Given the description of an element on the screen output the (x, y) to click on. 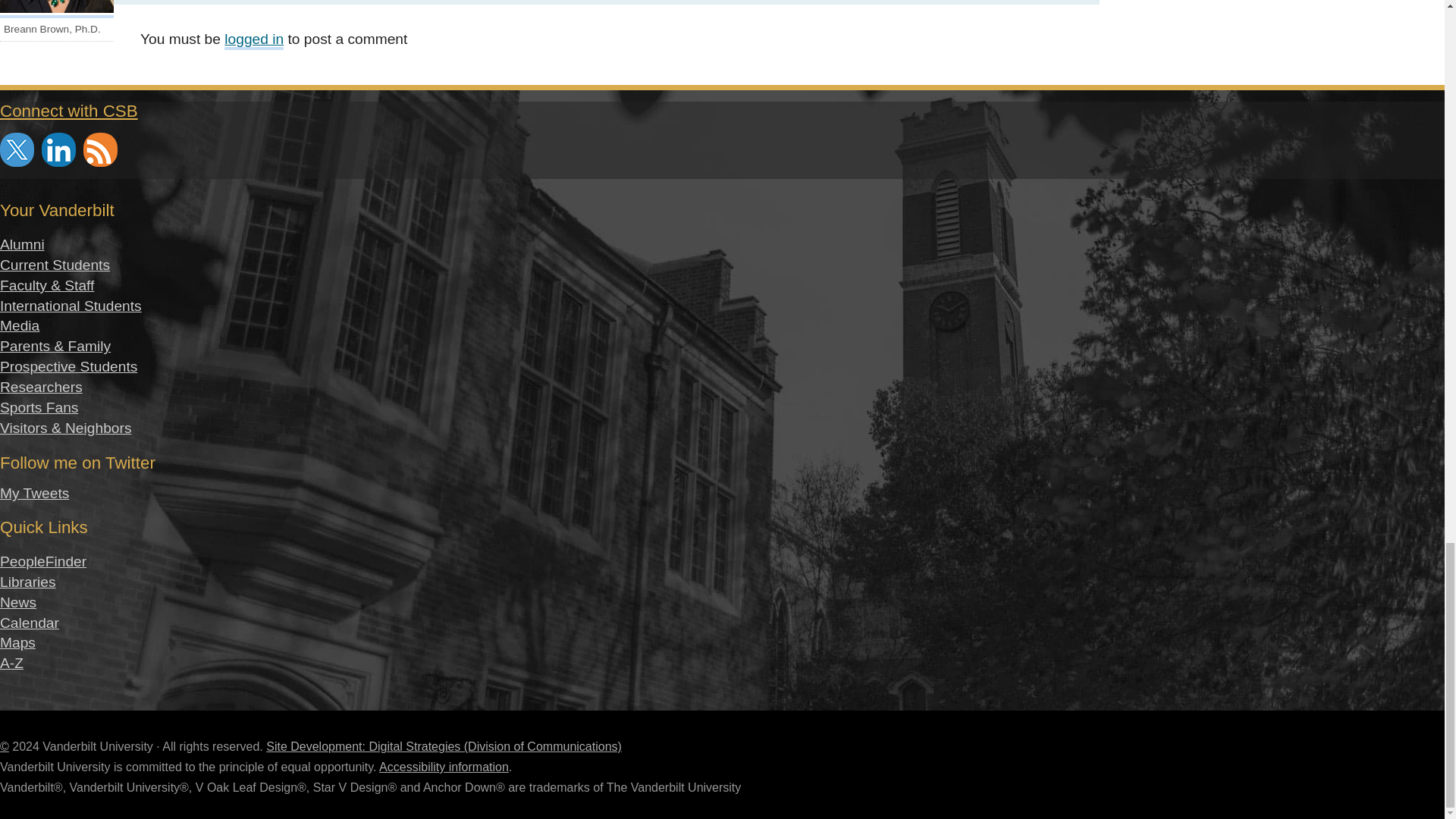
follow us on linkedin (58, 149)
follow us on twitter (16, 149)
Subscribe to RSS feed (99, 149)
